Given the description of an element on the screen output the (x, y) to click on. 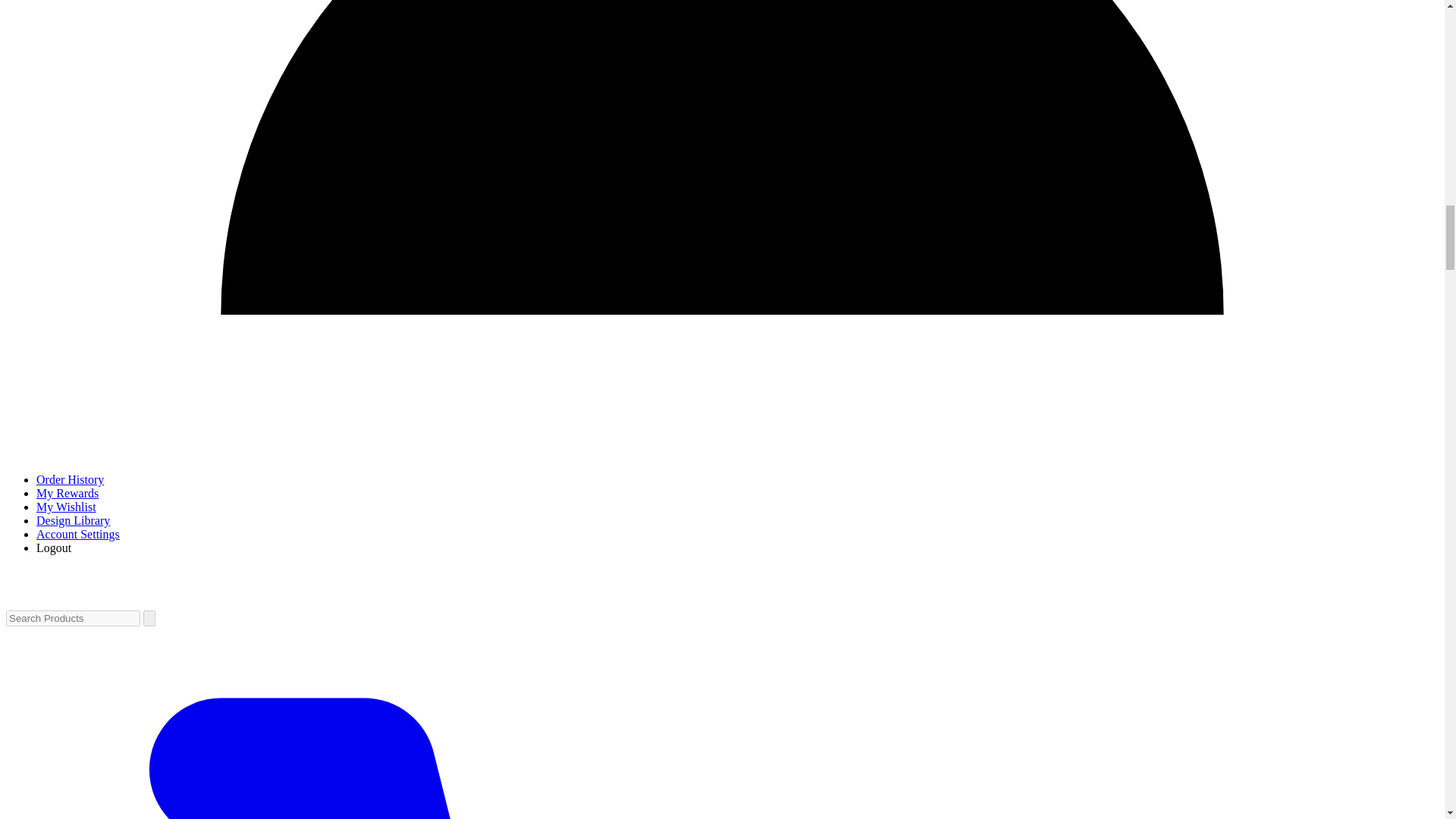
Order History (69, 479)
MatterHackers (81, 597)
My Wishlist (66, 506)
My Rewards (67, 492)
Design Library (73, 520)
Account Settings (77, 533)
